Given the description of an element on the screen output the (x, y) to click on. 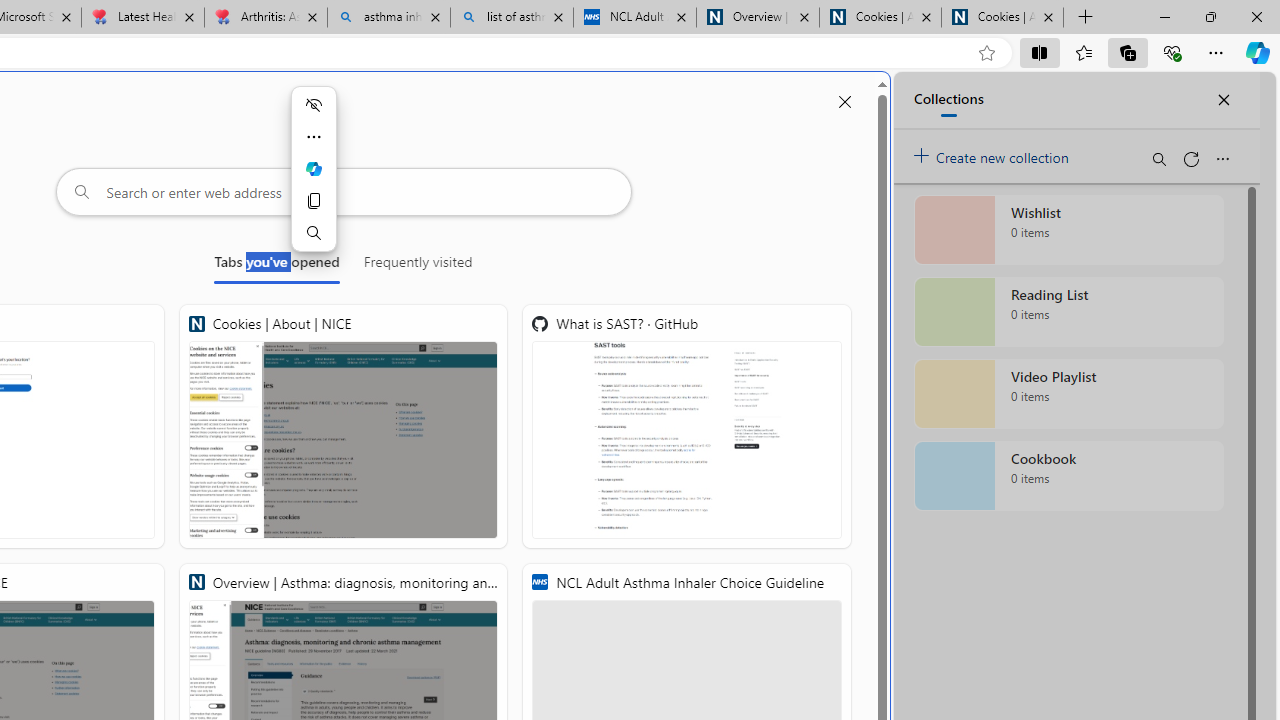
More actions (313, 136)
Arthritis: Ask Health Professionals (265, 17)
NCL Adult Asthma Inhaler Choice Guideline (634, 17)
Cookies | About | NICE (343, 426)
Ask Copilot (313, 168)
